Given the description of an element on the screen output the (x, y) to click on. 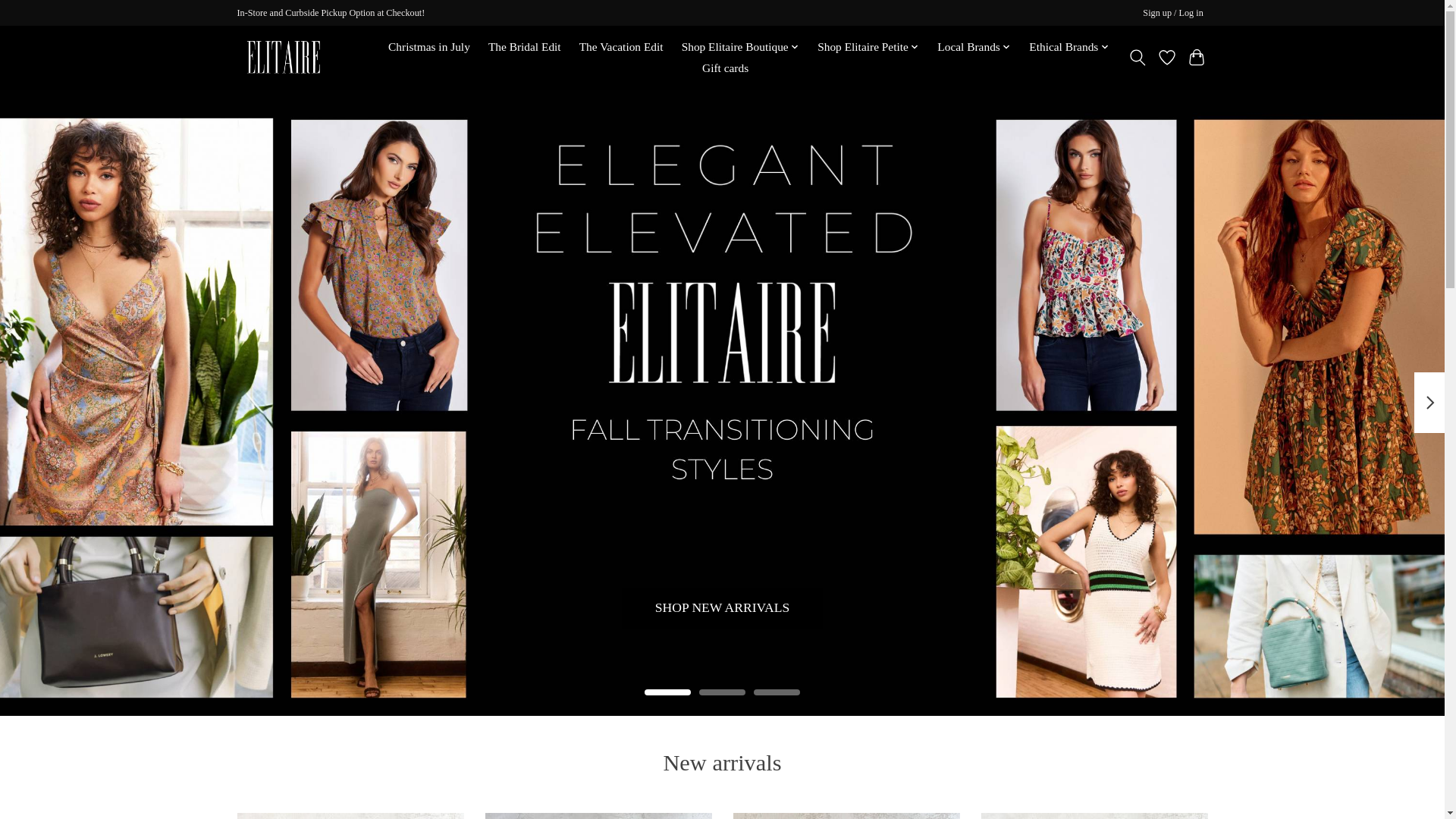
Elitaire Petite Aynor Ribbed Sage Onesie (845, 816)
Shop Elitaire Boutique (740, 47)
The Bridal Edit (524, 47)
Elitaire Boutique (282, 57)
Home (355, 47)
My account (1173, 13)
Christmas in July (429, 47)
Elitaire Petite Beryan Burgundy Bubble (349, 816)
Elitaire Petite Gleason Jersey Overalls (1093, 816)
The Vacation Edit (620, 47)
